Given the description of an element on the screen output the (x, y) to click on. 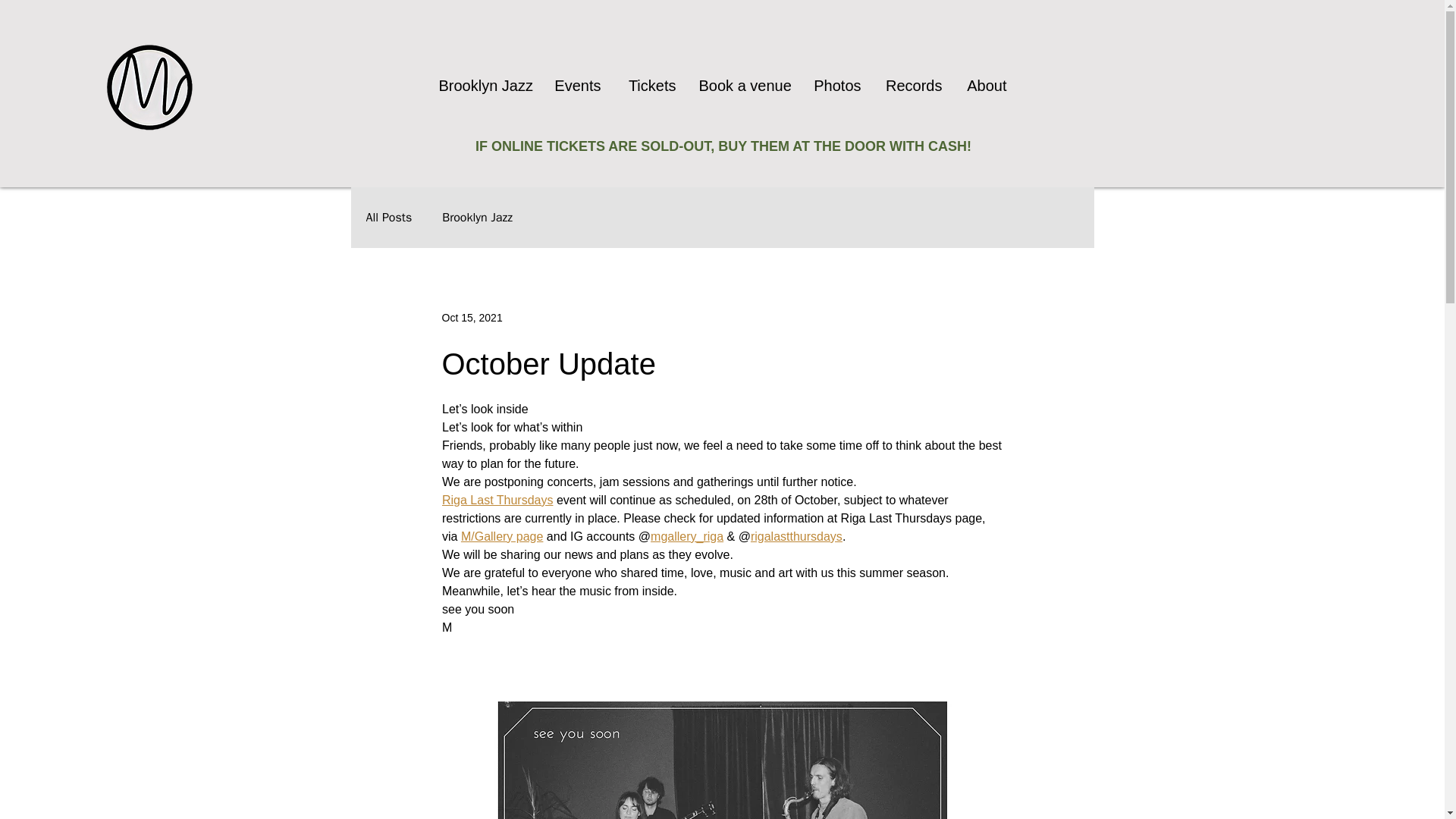
Brooklyn Jazz (477, 217)
Oct 15, 2021 (471, 317)
All Posts (388, 217)
Records (912, 85)
Riga Last Thursdays (496, 499)
Tickets (649, 85)
Events (576, 85)
About (985, 85)
Book a venue (743, 85)
Photos (836, 85)
rigalastthursdays (795, 535)
Brooklyn Jazz (484, 85)
